Given the description of an element on the screen output the (x, y) to click on. 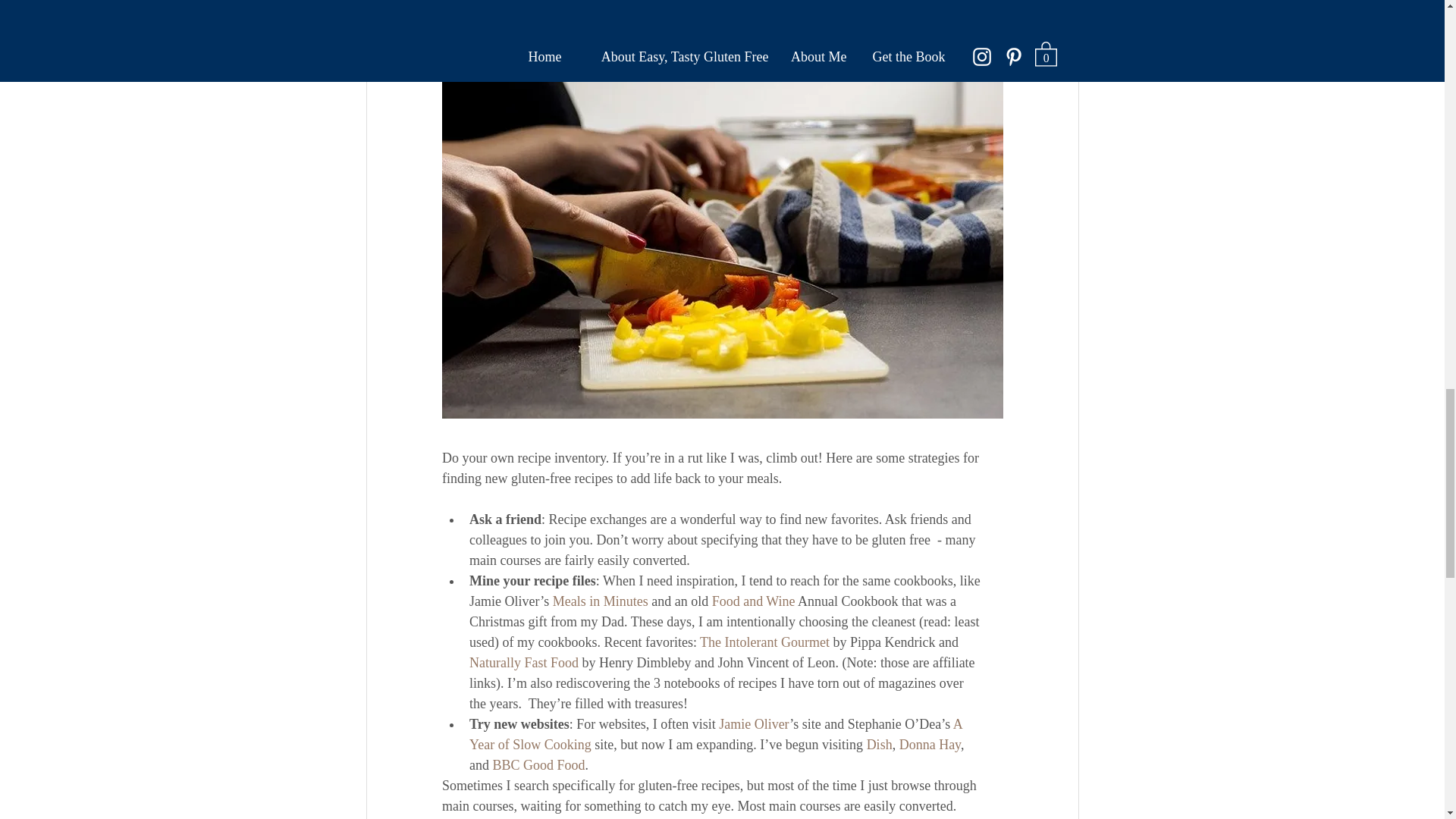
Meals in Minutes (599, 600)
A Year of Slow Cooking (715, 733)
The Intolerant Gourmet (764, 641)
Food and Wine (752, 600)
BBC Good Food (538, 764)
Donna Hay (928, 743)
Dish (878, 743)
Jamie Oliver (754, 723)
Naturally Fast Food (523, 661)
